Given the description of an element on the screen output the (x, y) to click on. 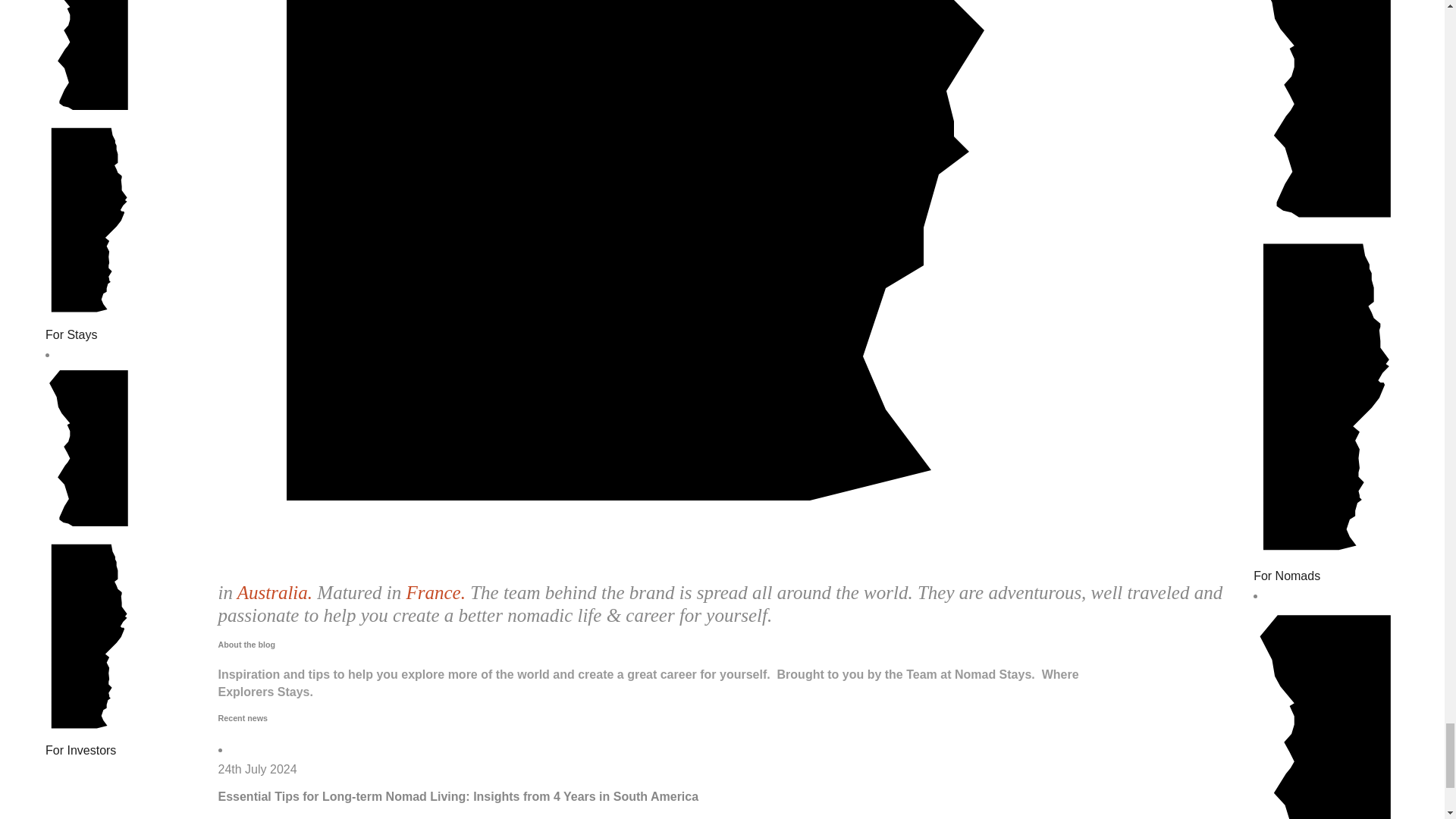
24th July 2024 (257, 768)
